Given the description of an element on the screen output the (x, y) to click on. 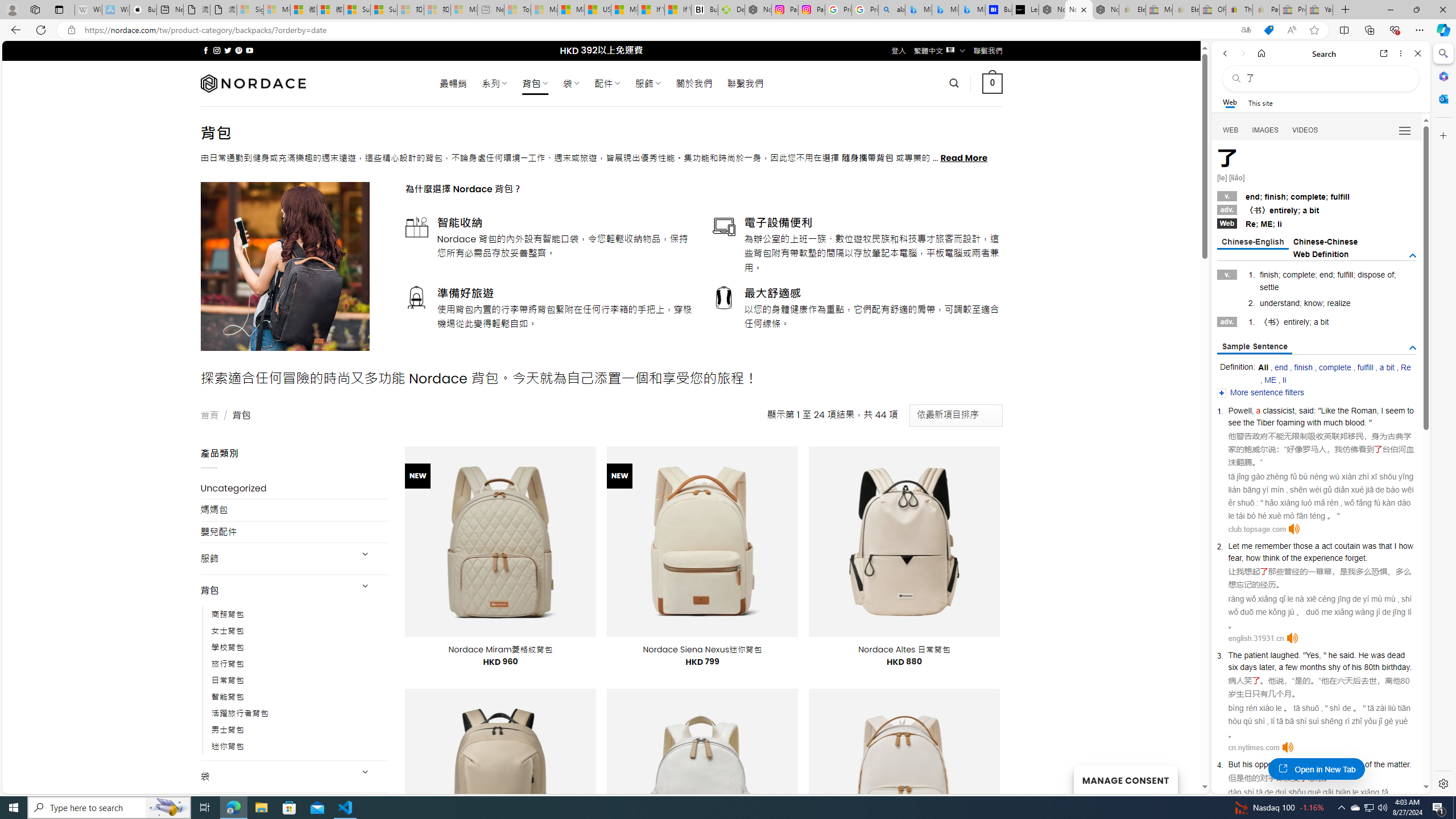
english.31931.cn (1255, 637)
Buy iPad - Apple (143, 9)
Chinese-Chinese (1325, 241)
know (1313, 302)
Re (1405, 367)
settle (1269, 286)
alabama high school quarterback dies - Search (891, 9)
80 (1404, 680)
